Given the description of an element on the screen output the (x, y) to click on. 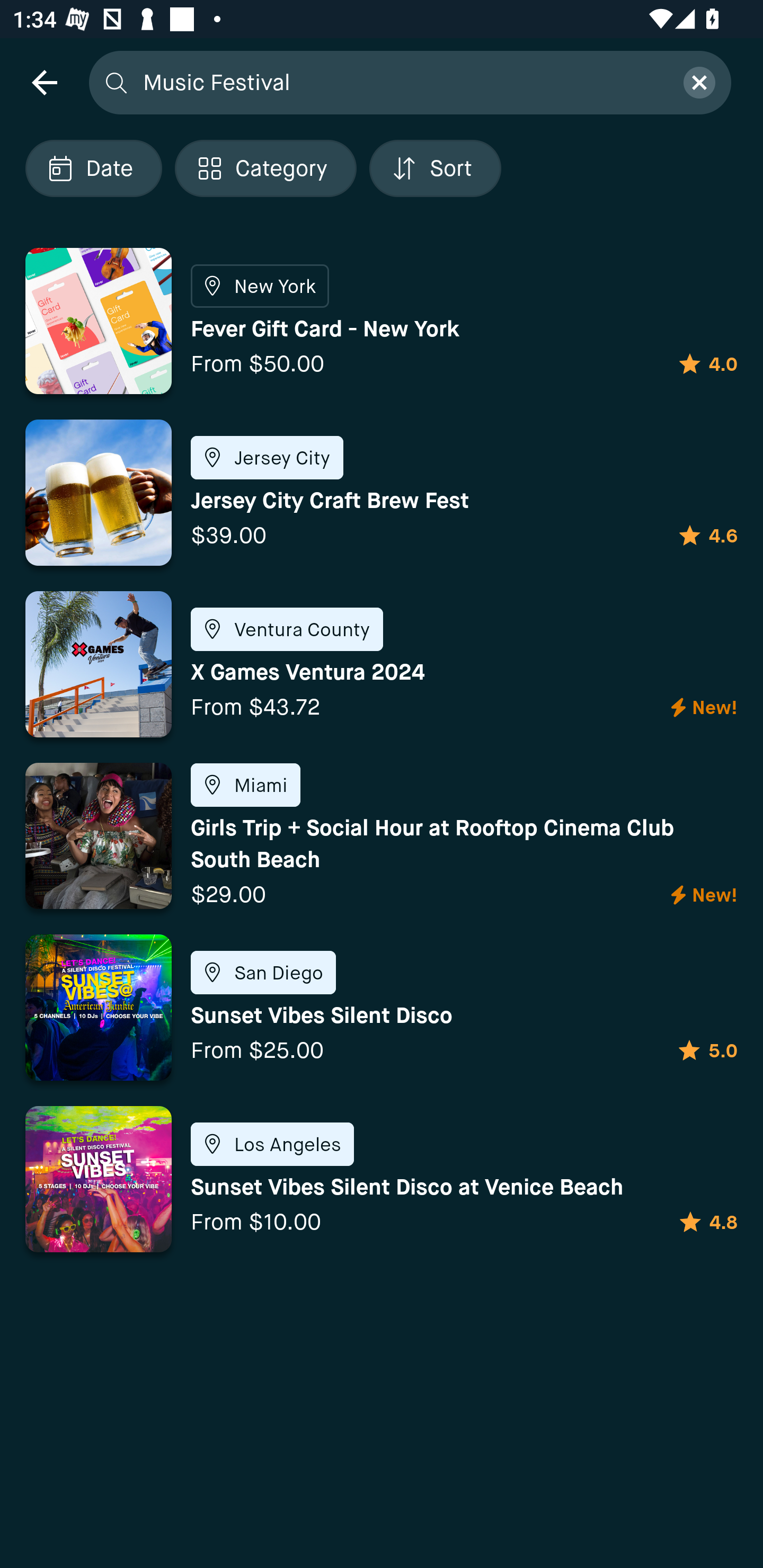
navigation icon (44, 81)
Music Festival (402, 81)
Localized description Date (93, 168)
Localized description Category (265, 168)
Localized description Sort (435, 168)
